Given the description of an element on the screen output the (x, y) to click on. 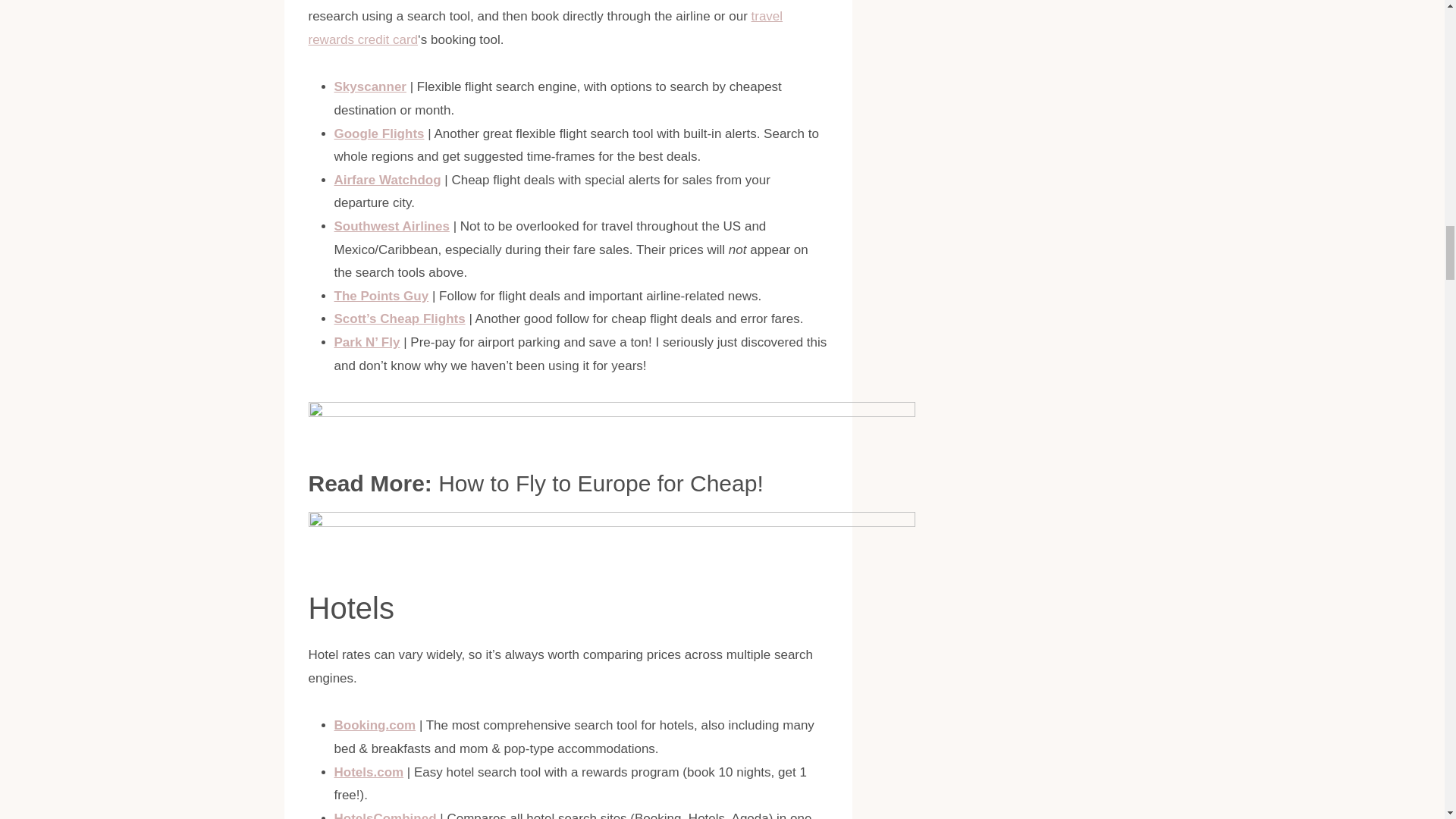
travel rewards credit card (545, 27)
Google Flights (378, 133)
Skyscanner (369, 86)
Southwest Airlines (390, 226)
Airfare Watchdog (387, 179)
